Given the description of an element on the screen output the (x, y) to click on. 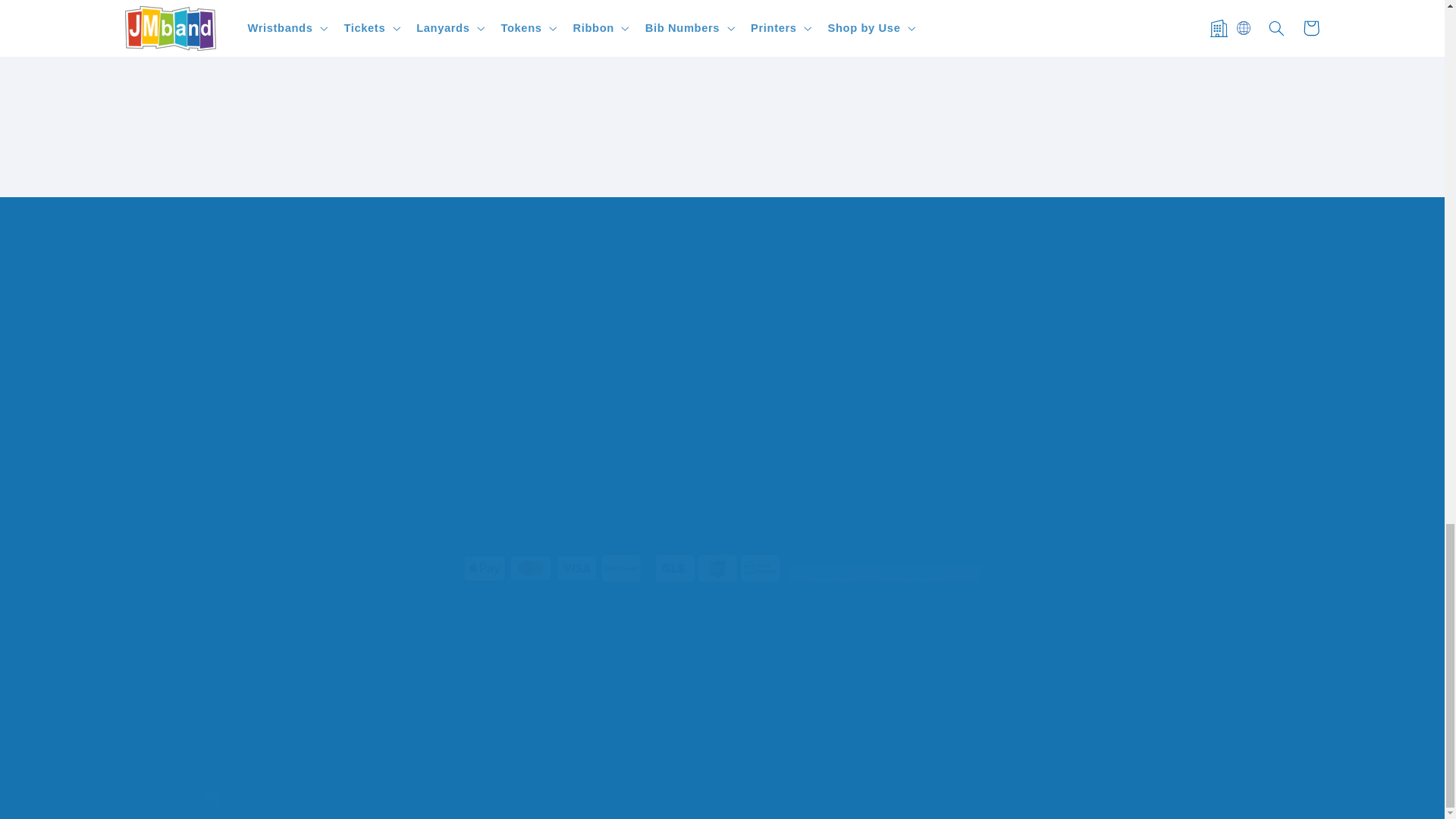
RFID Technology (572, 396)
RFID Technology (872, 126)
Responsible for the Future (872, 109)
See In-Stock Items (1172, 126)
See In-Stock Items (572, 109)
Get Inspired (572, 126)
Get Inspired (272, 126)
Responsible for the Future (272, 109)
